Given the description of an element on the screen output the (x, y) to click on. 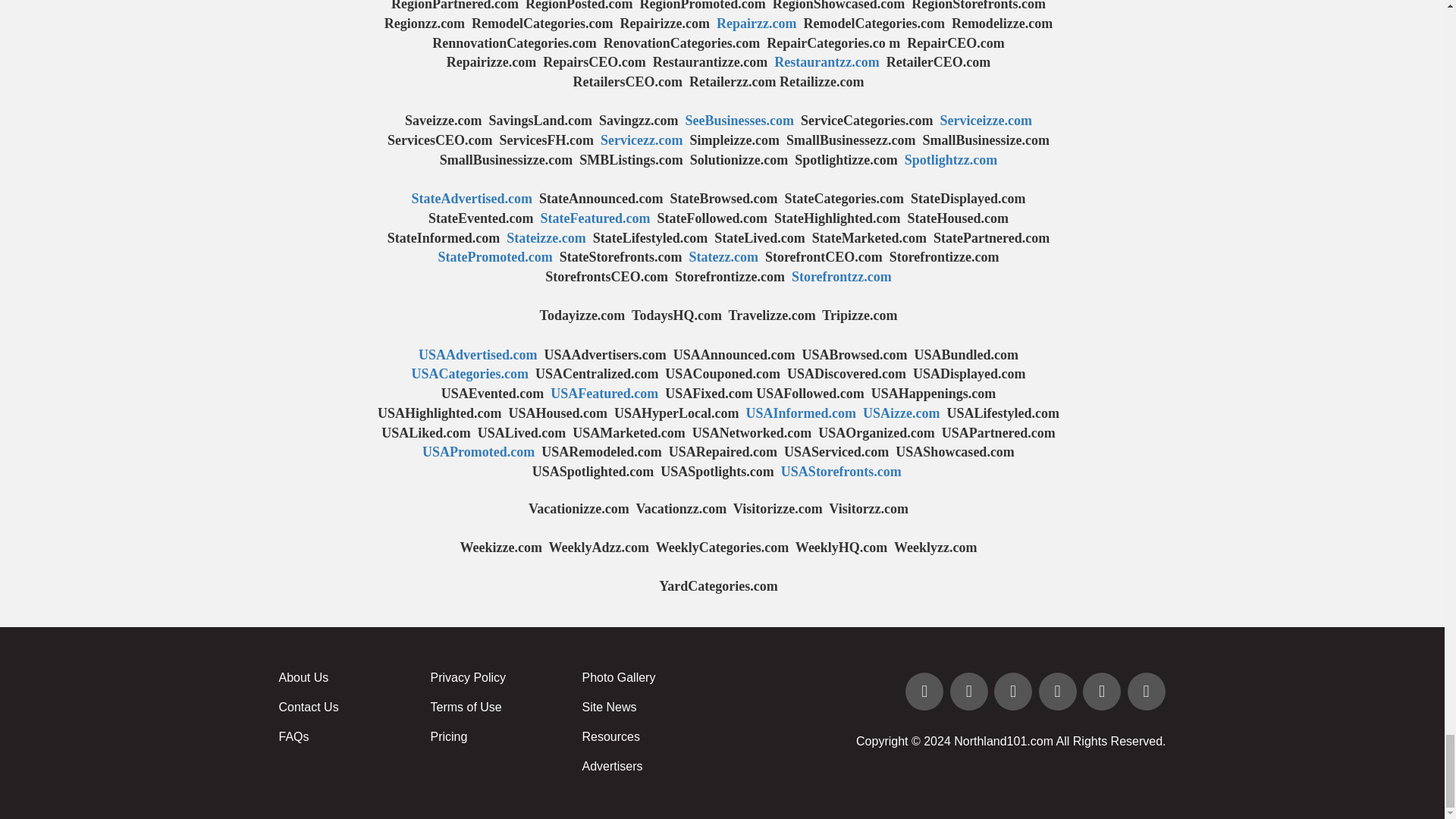
Follow Us on You Tube (1058, 692)
Follow Us on Instagram (1145, 692)
Follow Us on Facebook (925, 692)
Follow Us on Twitter (970, 692)
Follow Us on Linked In (1014, 692)
Follow Us on Pinterest (1103, 692)
